Given the description of an element on the screen output the (x, y) to click on. 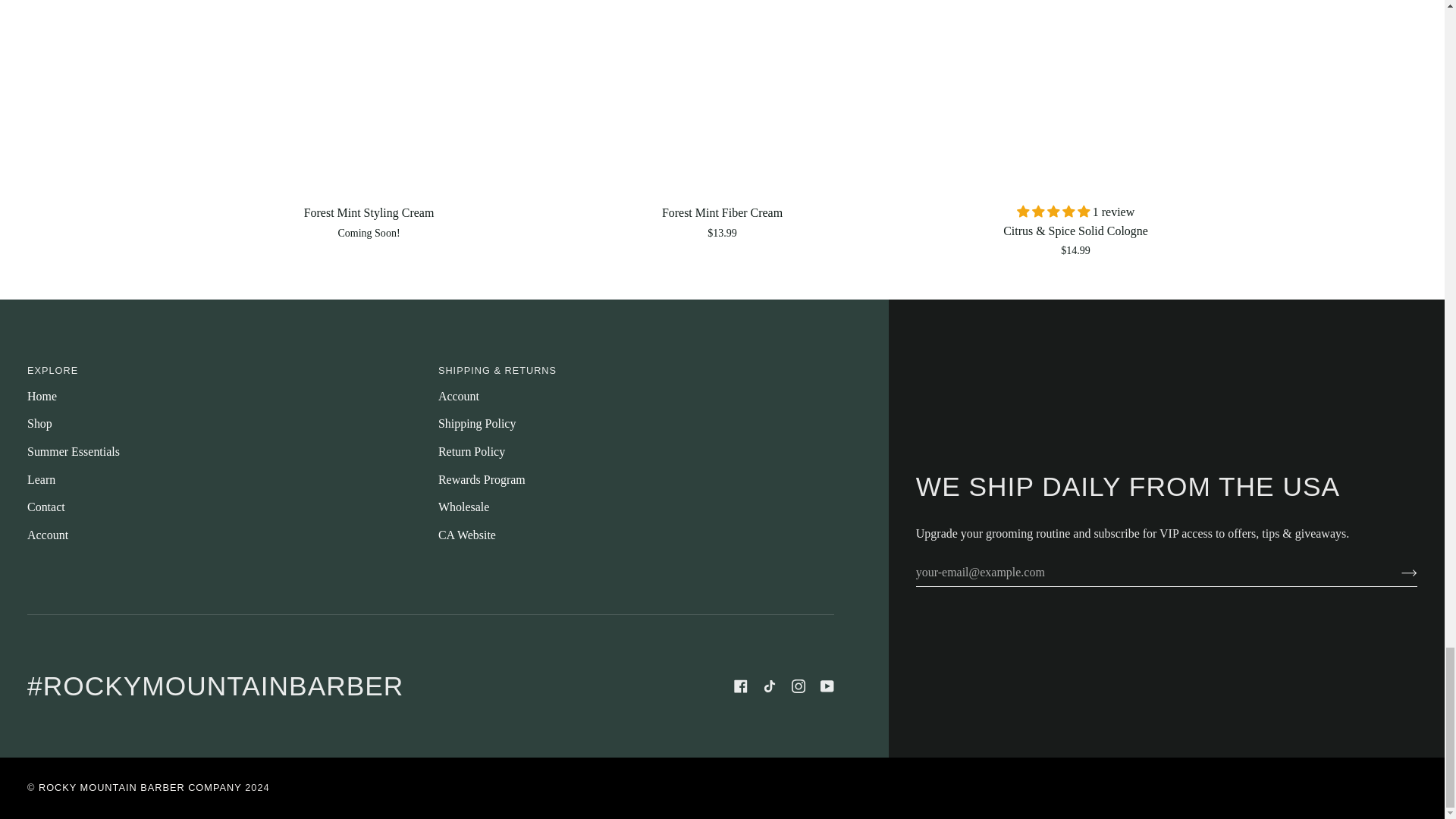
YouTube (827, 685)
Facebook (740, 685)
Instagram (798, 685)
Tiktok (769, 685)
